Given the description of an element on the screen output the (x, y) to click on. 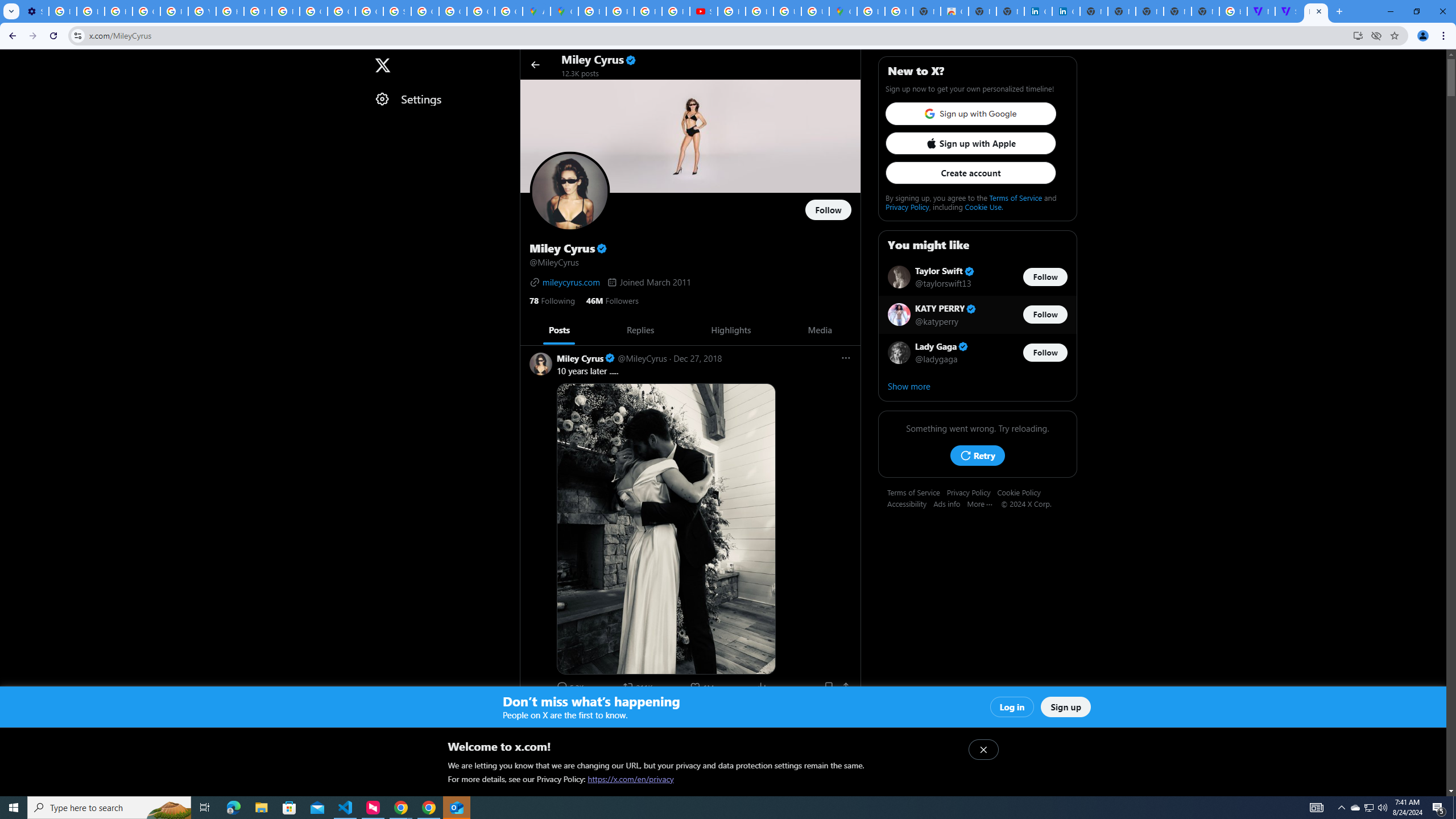
@MileyCyrus (641, 711)
@ladygaga (936, 358)
Chrome Web Store (955, 11)
Sign up (1065, 706)
Google Maps (564, 11)
Skip to home timeline (10, 59)
@selenagomez (608, 724)
